Given the description of an element on the screen output the (x, y) to click on. 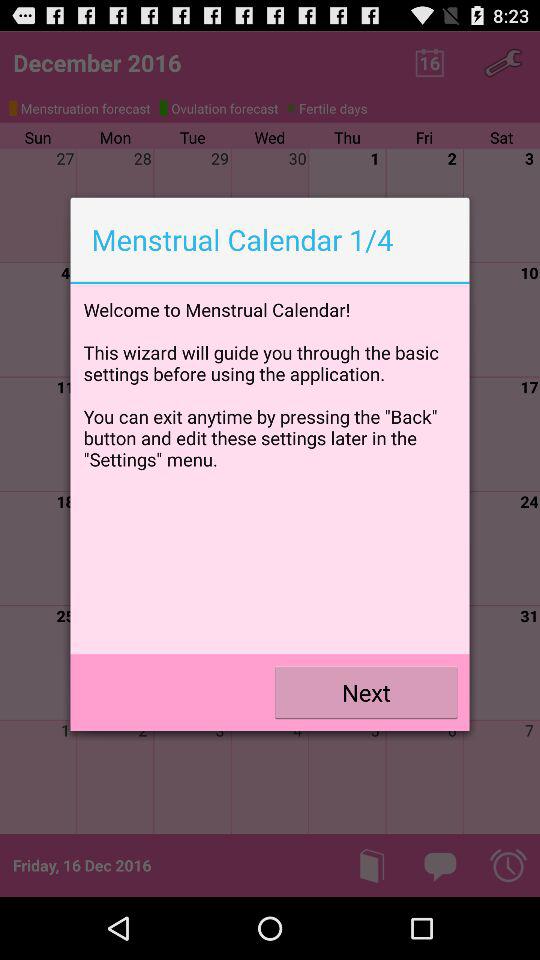
select app below the welcome to menstrual (366, 692)
